Given the description of an element on the screen output the (x, y) to click on. 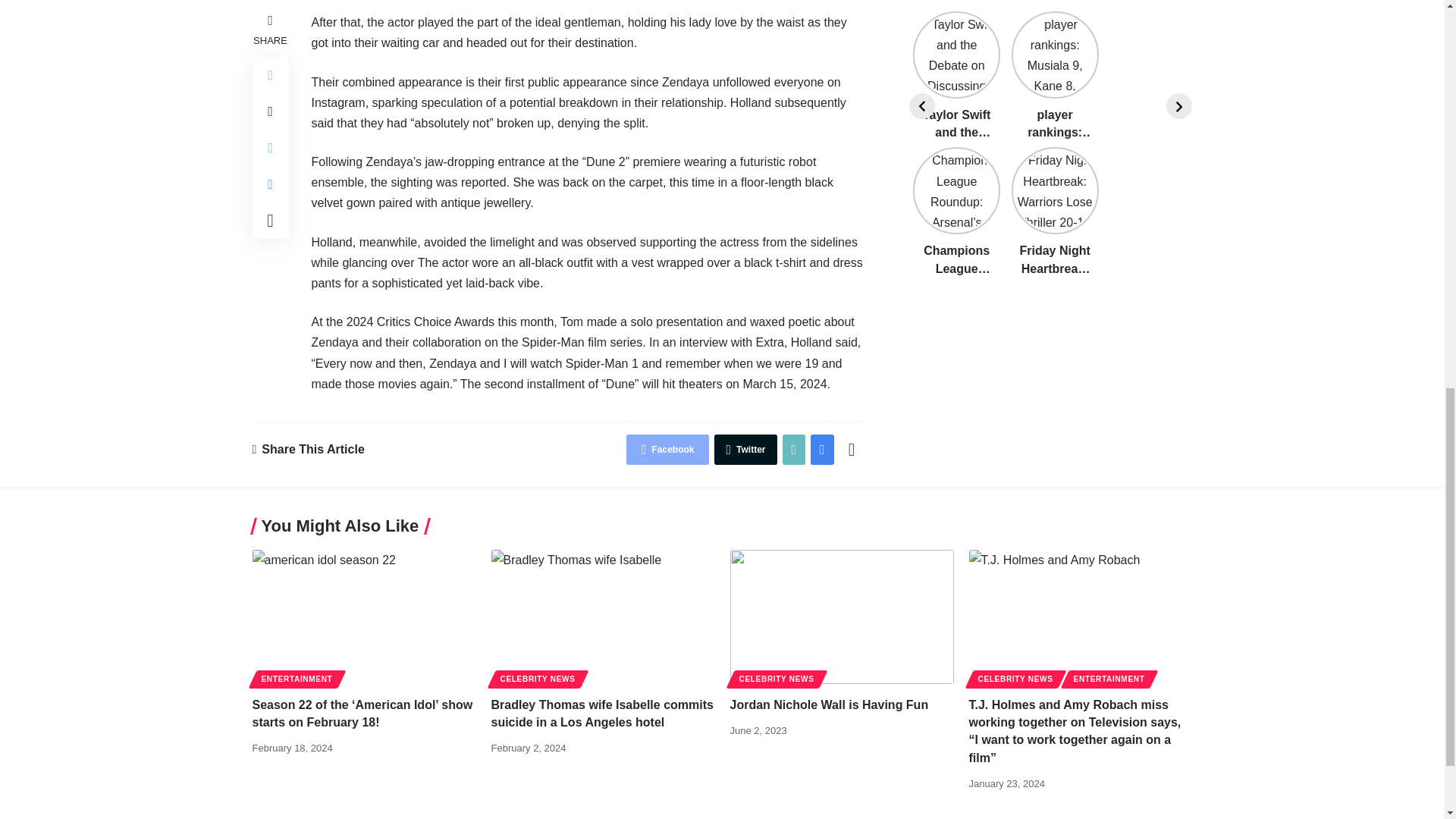
Jordan Nichole Wall is Having Fun (841, 616)
